Given the description of an element on the screen output the (x, y) to click on. 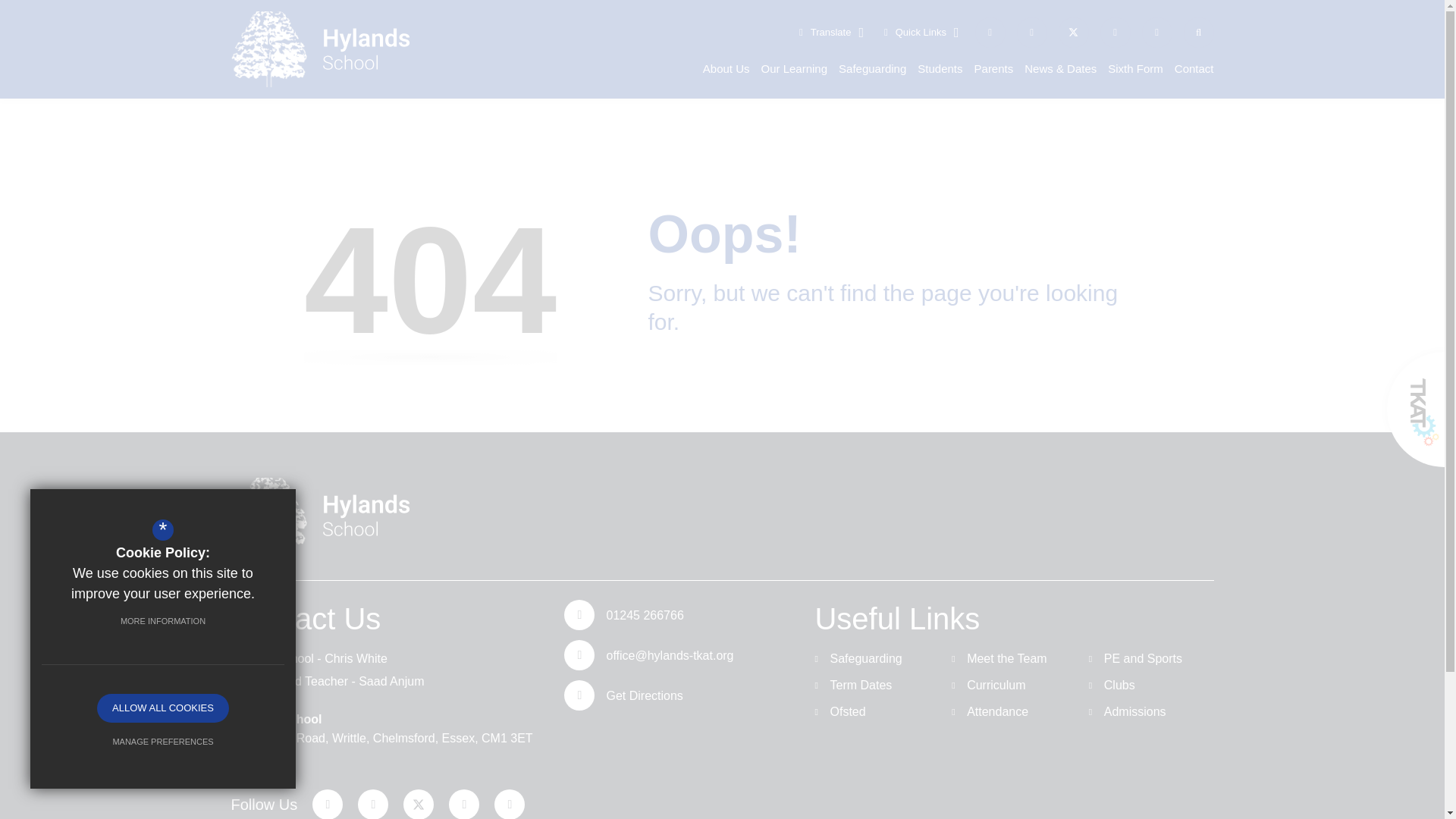
Our Learning (794, 67)
Translate (830, 32)
Google Translate (830, 32)
X (1073, 31)
Facebook (1031, 31)
Hylands School (319, 48)
Quick Links (921, 32)
About Us (726, 67)
Search site (1197, 31)
LinkedIn (1114, 31)
Instagram (990, 31)
YouTube (1156, 31)
